Given the description of an element on the screen output the (x, y) to click on. 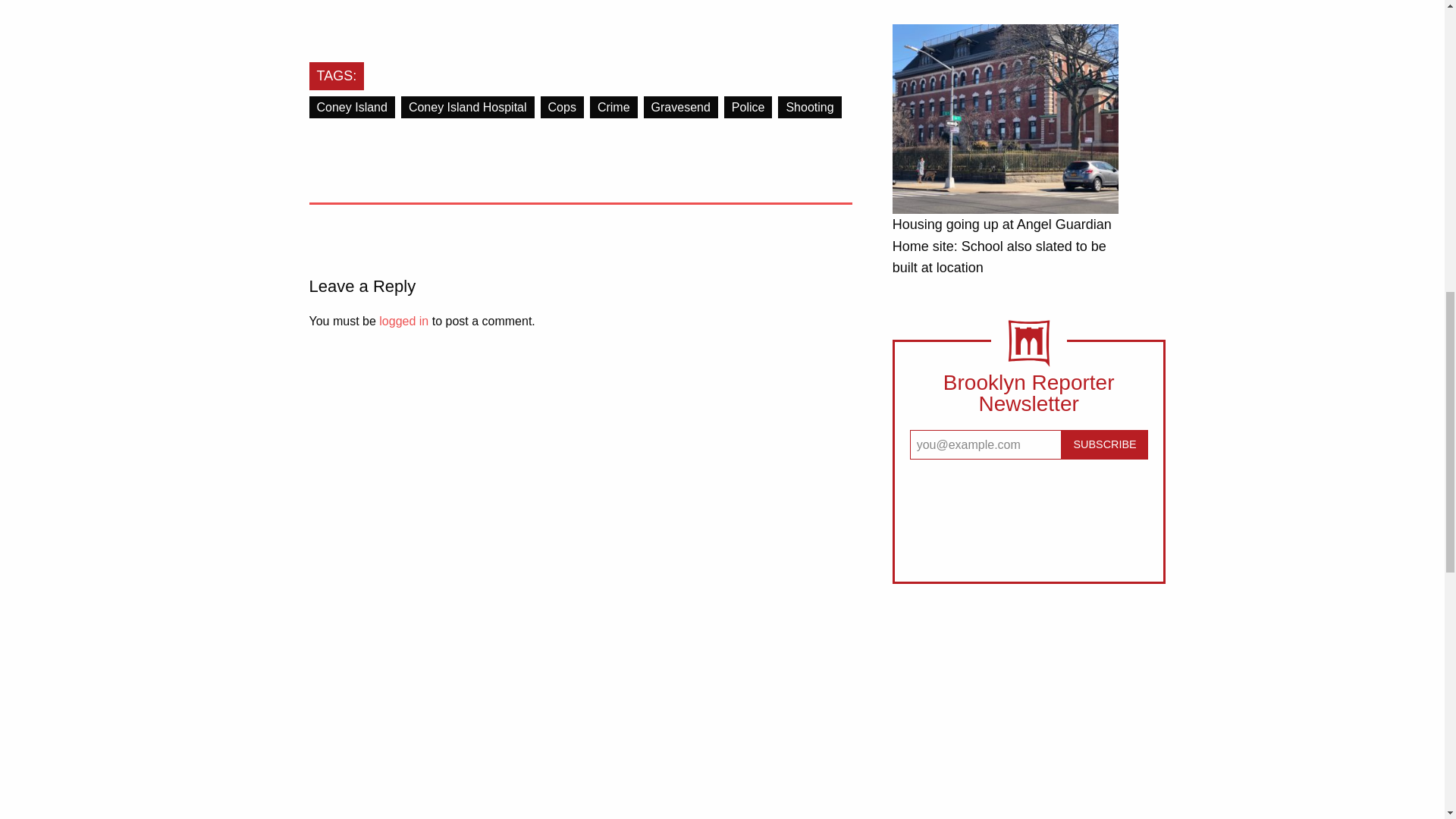
Subscribe (1104, 444)
